Given the description of an element on the screen output the (x, y) to click on. 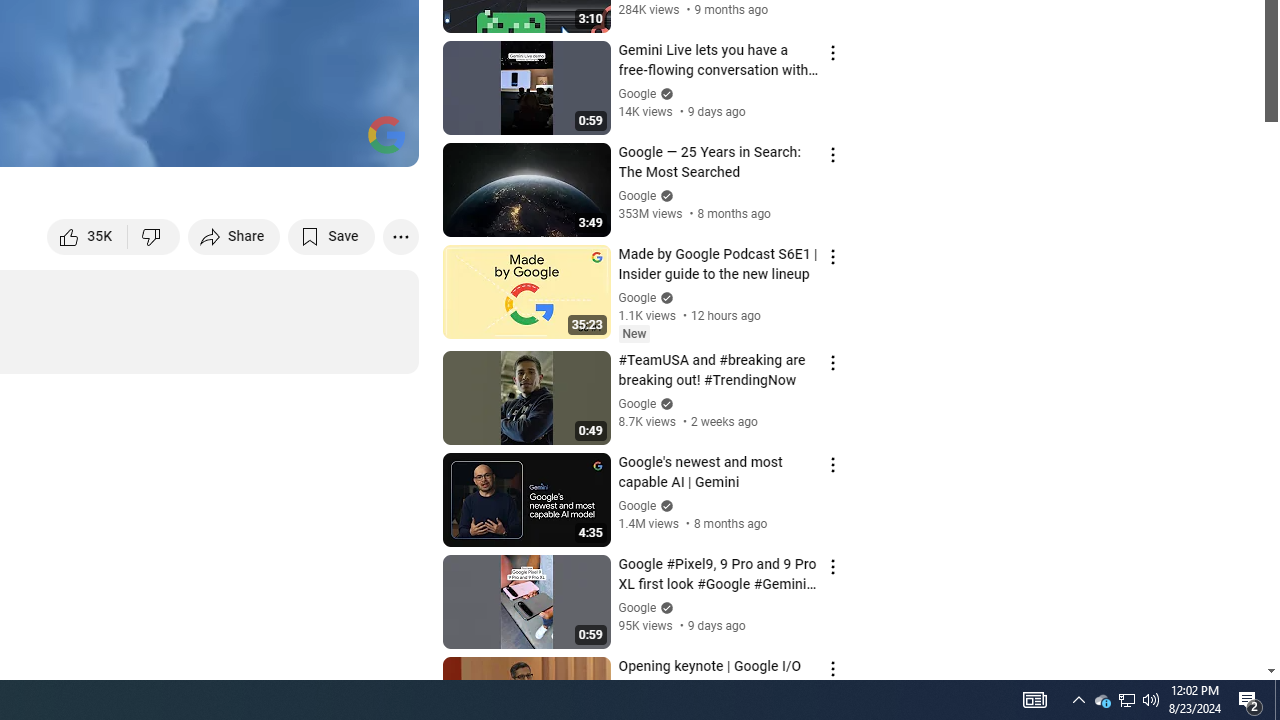
Miniplayer (i) (286, 142)
Channel watermark (386, 134)
Dislike this video (154, 236)
Action menu (832, 668)
